Given the description of an element on the screen output the (x, y) to click on. 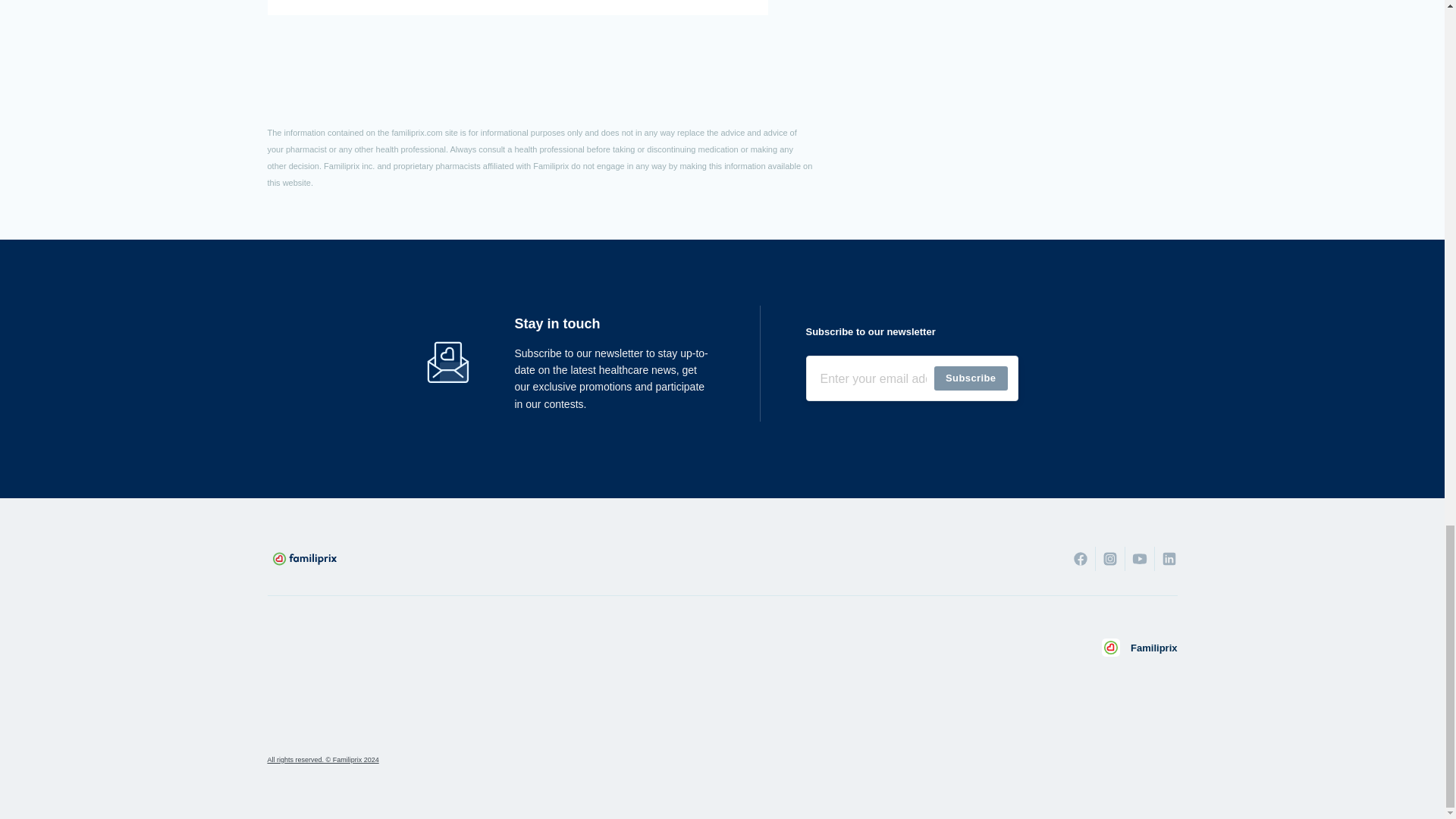
Familiprix (1139, 647)
Subscribe (970, 378)
